Given the description of an element on the screen output the (x, y) to click on. 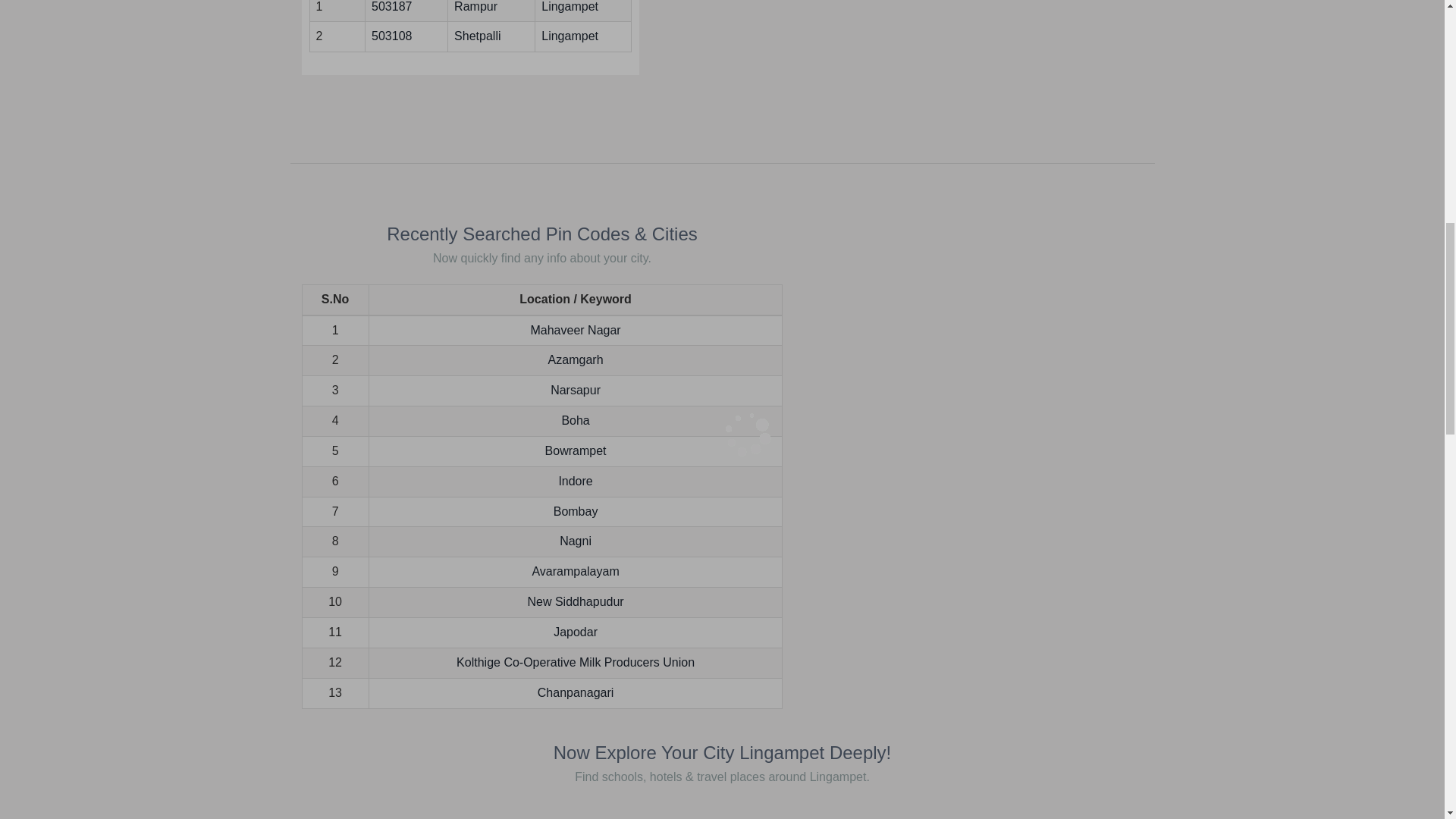
Rampur (475, 6)
Azamgarh (576, 359)
Bombay (575, 511)
Nizamabad (475, 6)
Shetpalli (477, 35)
Narsapur (574, 390)
503187 (391, 6)
Avarampalayam (574, 571)
Japodar (574, 631)
Indore (574, 481)
